Given the description of an element on the screen output the (x, y) to click on. 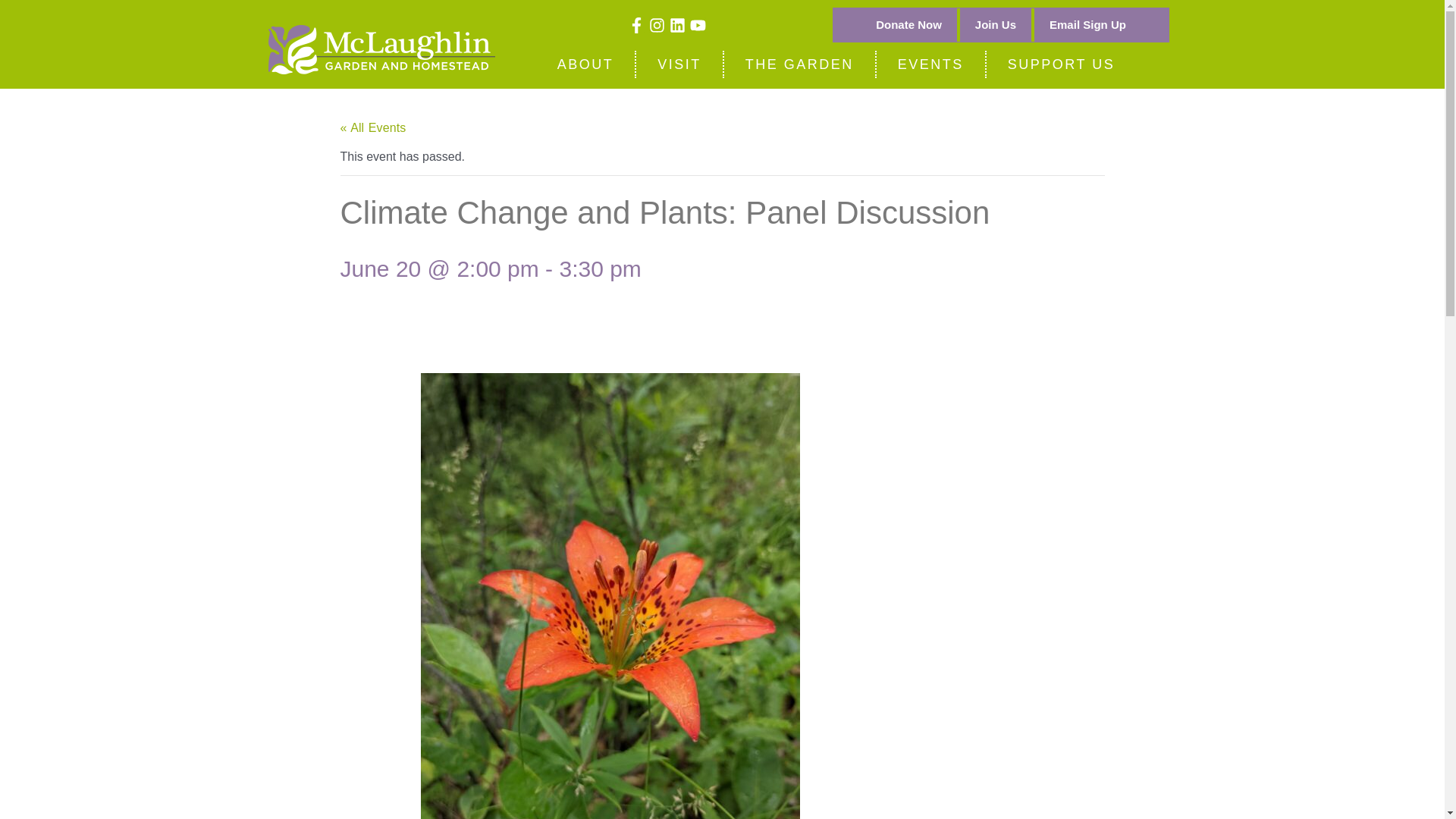
Linkedin (677, 24)
Youtube (698, 24)
VISIT (678, 64)
EVENTS (930, 64)
Email Sign Up (1087, 24)
Join Us (994, 24)
Donate Now (908, 24)
ABOUT (585, 64)
Instagram (657, 24)
Facebook-f (636, 24)
